Given the description of an element on the screen output the (x, y) to click on. 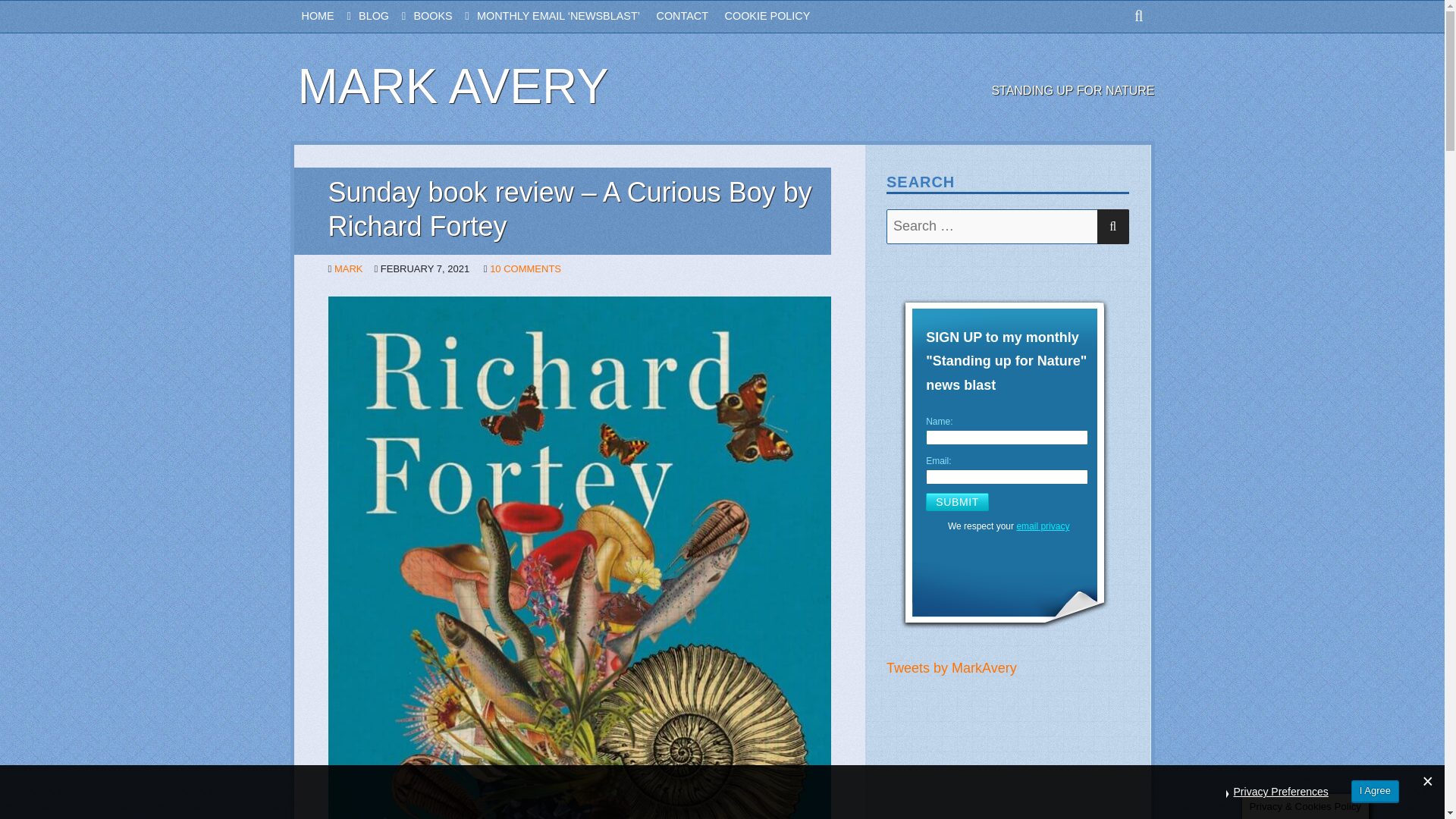
Privacy Policy (1042, 525)
BOOKS (445, 16)
Submit (957, 502)
HOME (330, 16)
MARK AVERY (452, 85)
COOKIE POLICY (776, 16)
BLOG (385, 16)
CONTACT (689, 16)
